Given the description of an element on the screen output the (x, y) to click on. 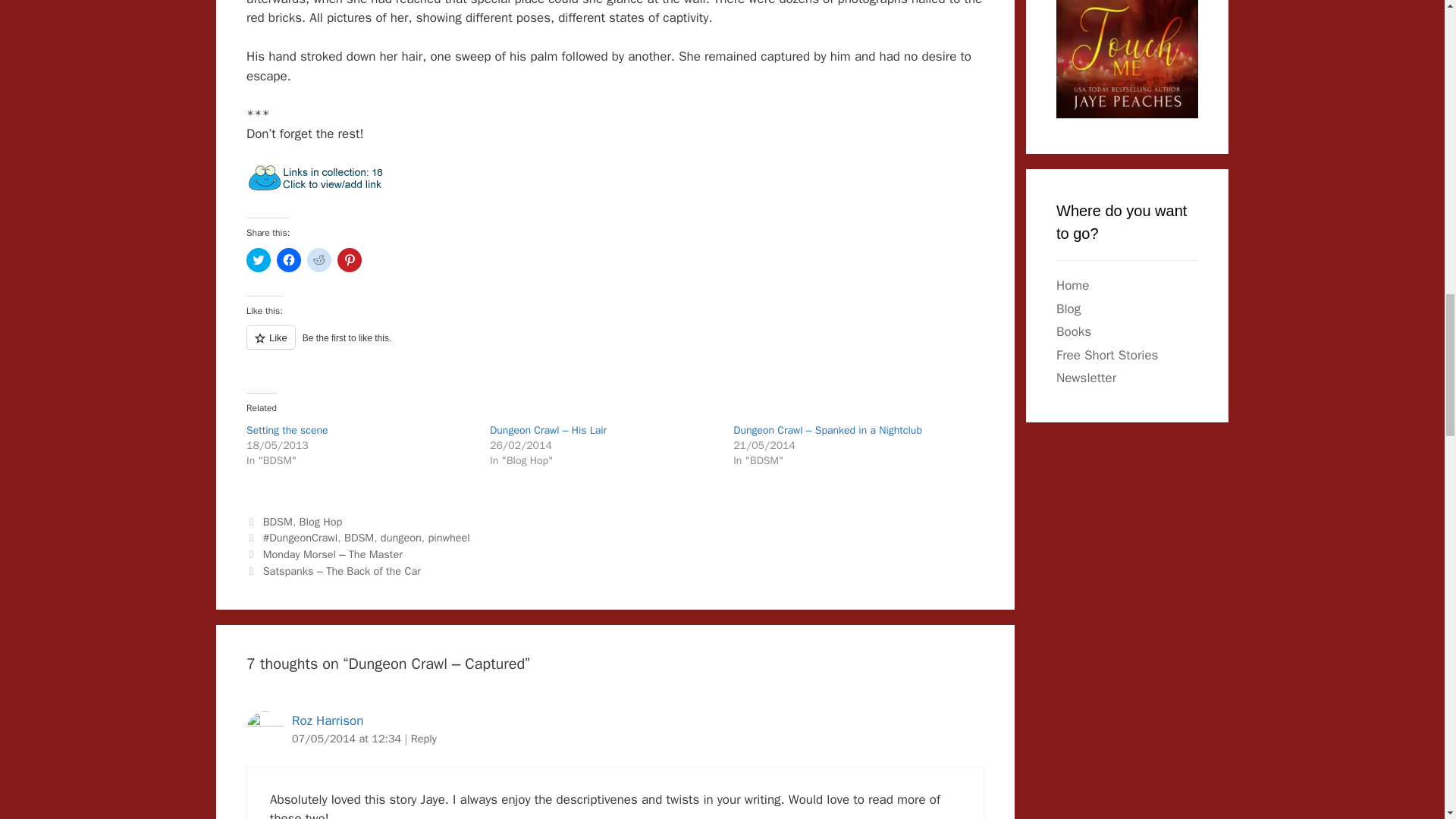
Click to share on Reddit (319, 259)
Like or Reblog (615, 345)
Previous (324, 554)
Click to share on Pinterest (349, 259)
Setting the scene (287, 430)
Next (333, 571)
Click to share on Facebook (288, 259)
Click to share on Twitter (258, 259)
